Given the description of an element on the screen output the (x, y) to click on. 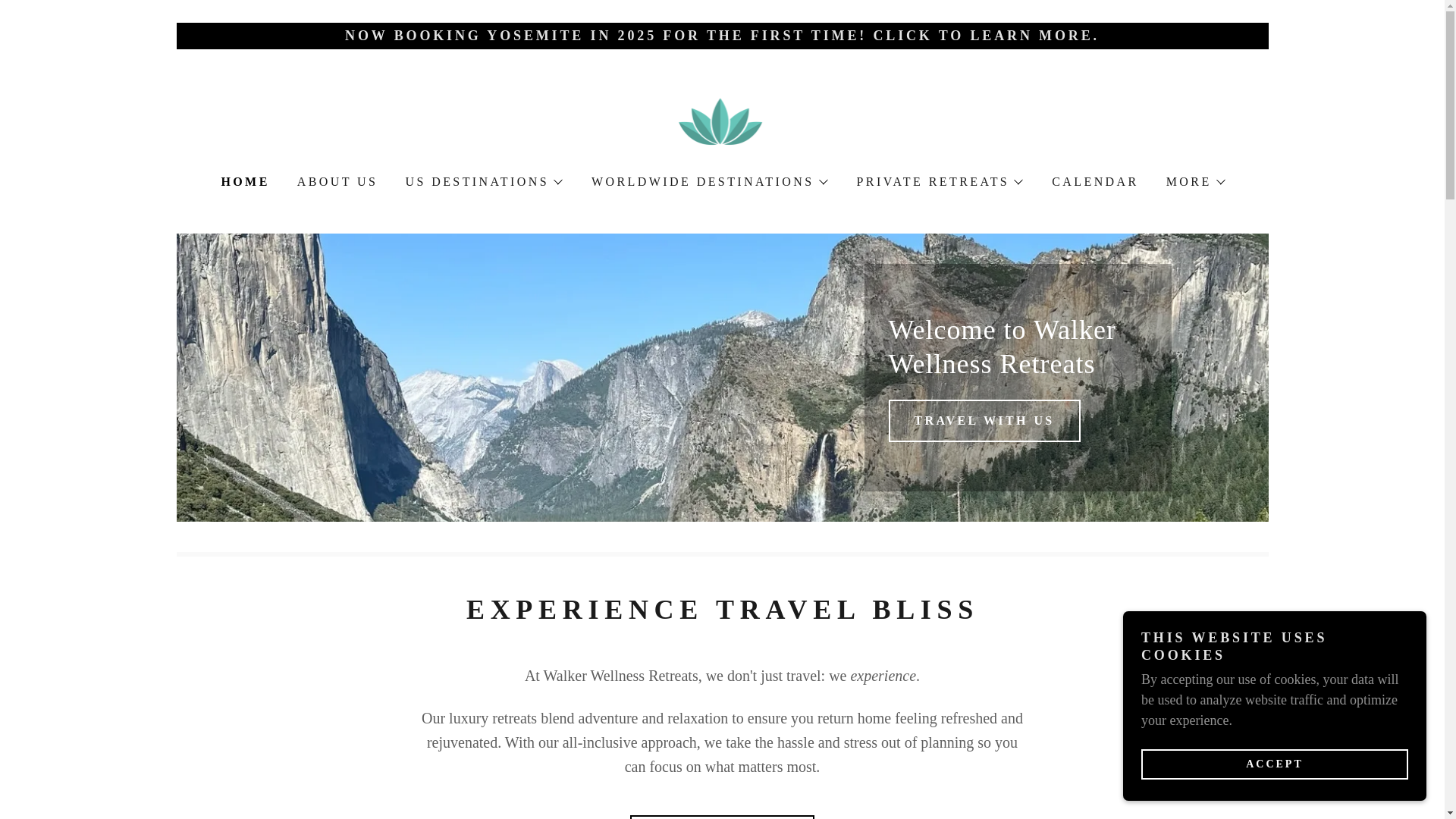
HOME (242, 181)
Walker Wellness Retreats (722, 121)
US DESTINATIONS (482, 181)
ABOUT US (335, 181)
PRIVATE RETREATS (939, 181)
WORLDWIDE DESTINATIONS (708, 181)
MORE (1195, 181)
CALENDAR (1092, 181)
